Given the description of an element on the screen output the (x, y) to click on. 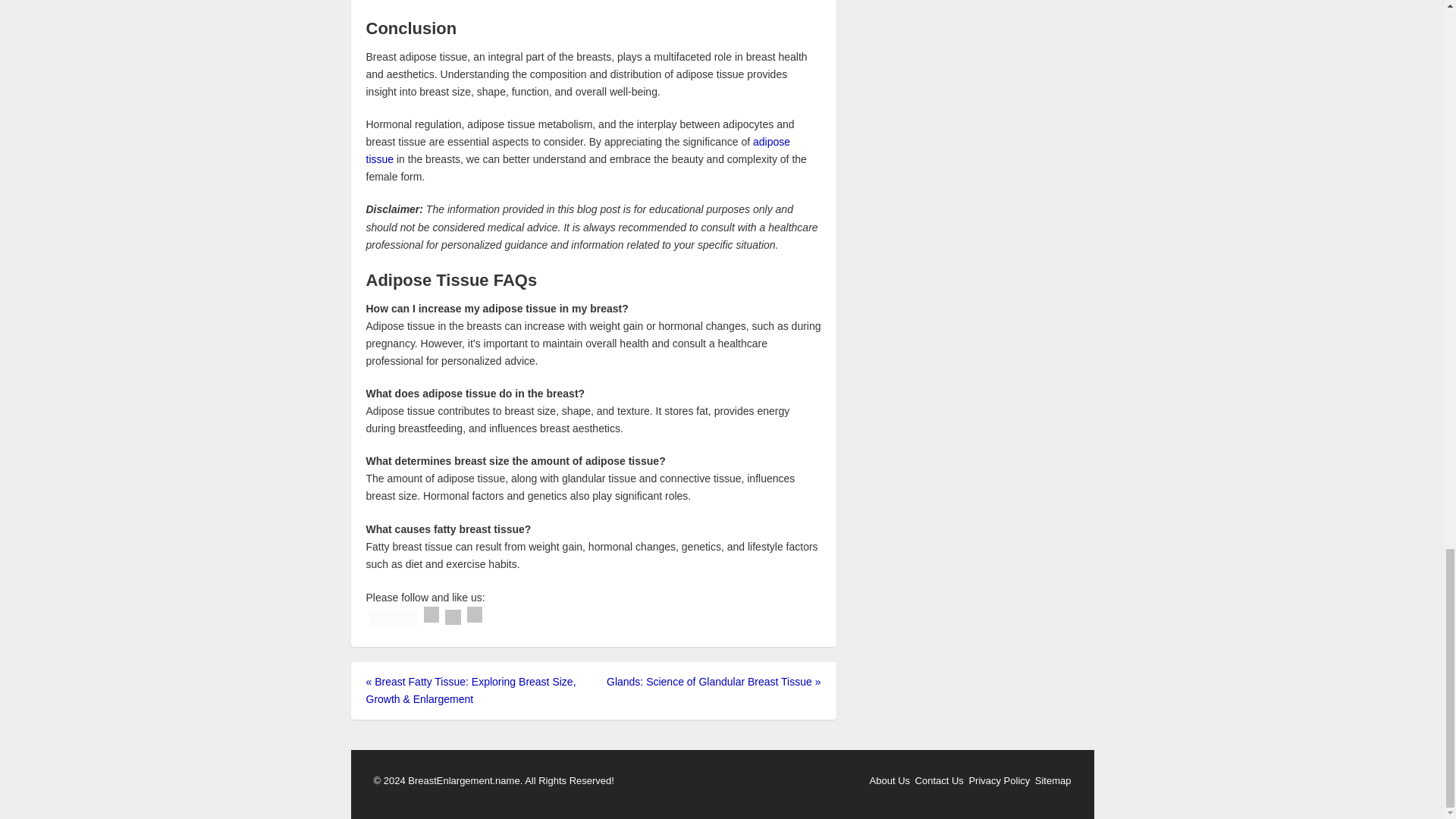
Pin Share (475, 614)
Tweet (453, 617)
Facebook Share (431, 614)
adipose tissue (577, 150)
